Given the description of an element on the screen output the (x, y) to click on. 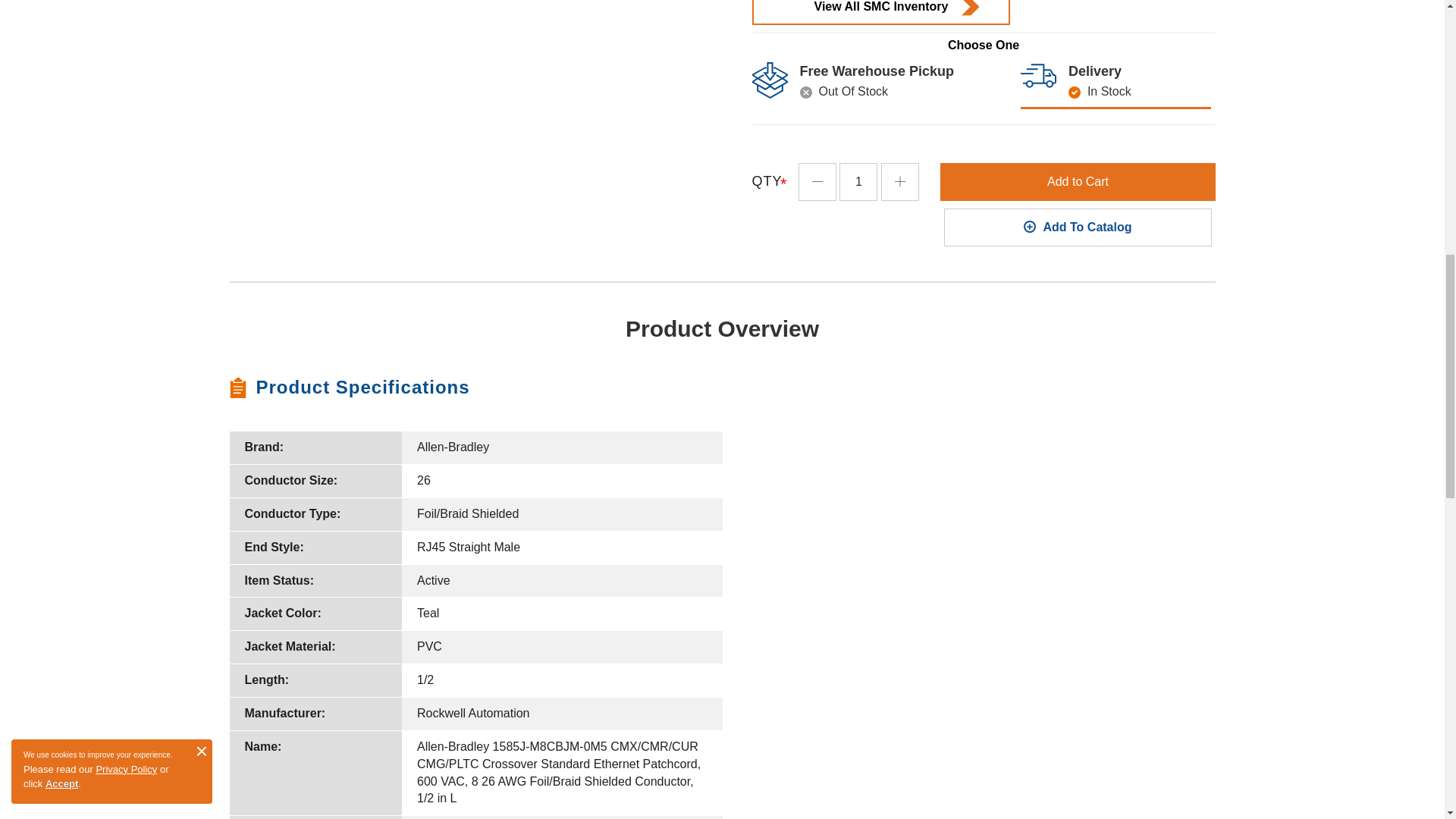
1 (858, 181)
